Given the description of an element on the screen output the (x, y) to click on. 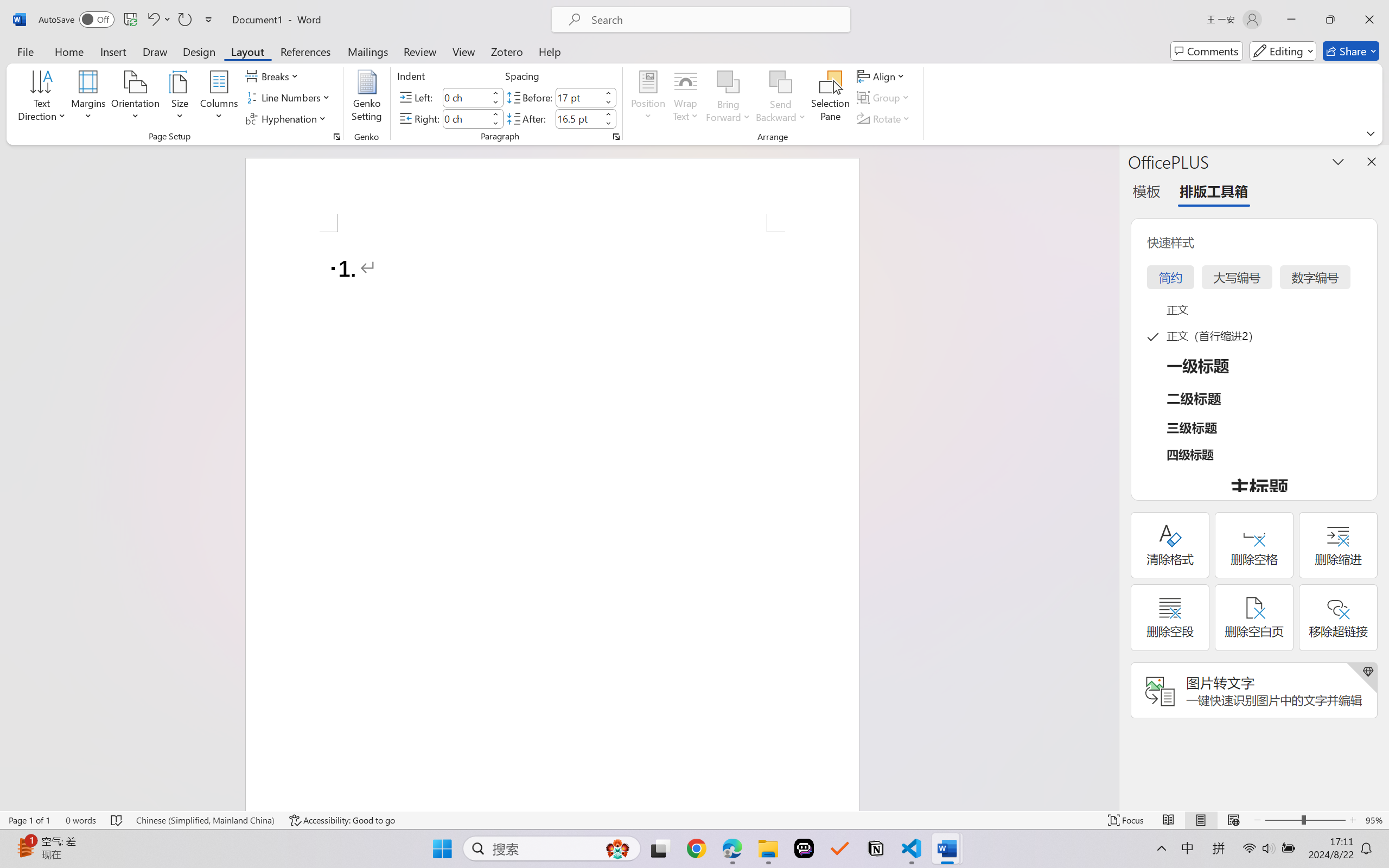
Size (180, 97)
Send Backward (781, 81)
Rotate (884, 118)
Breaks (273, 75)
